Given the description of an element on the screen output the (x, y) to click on. 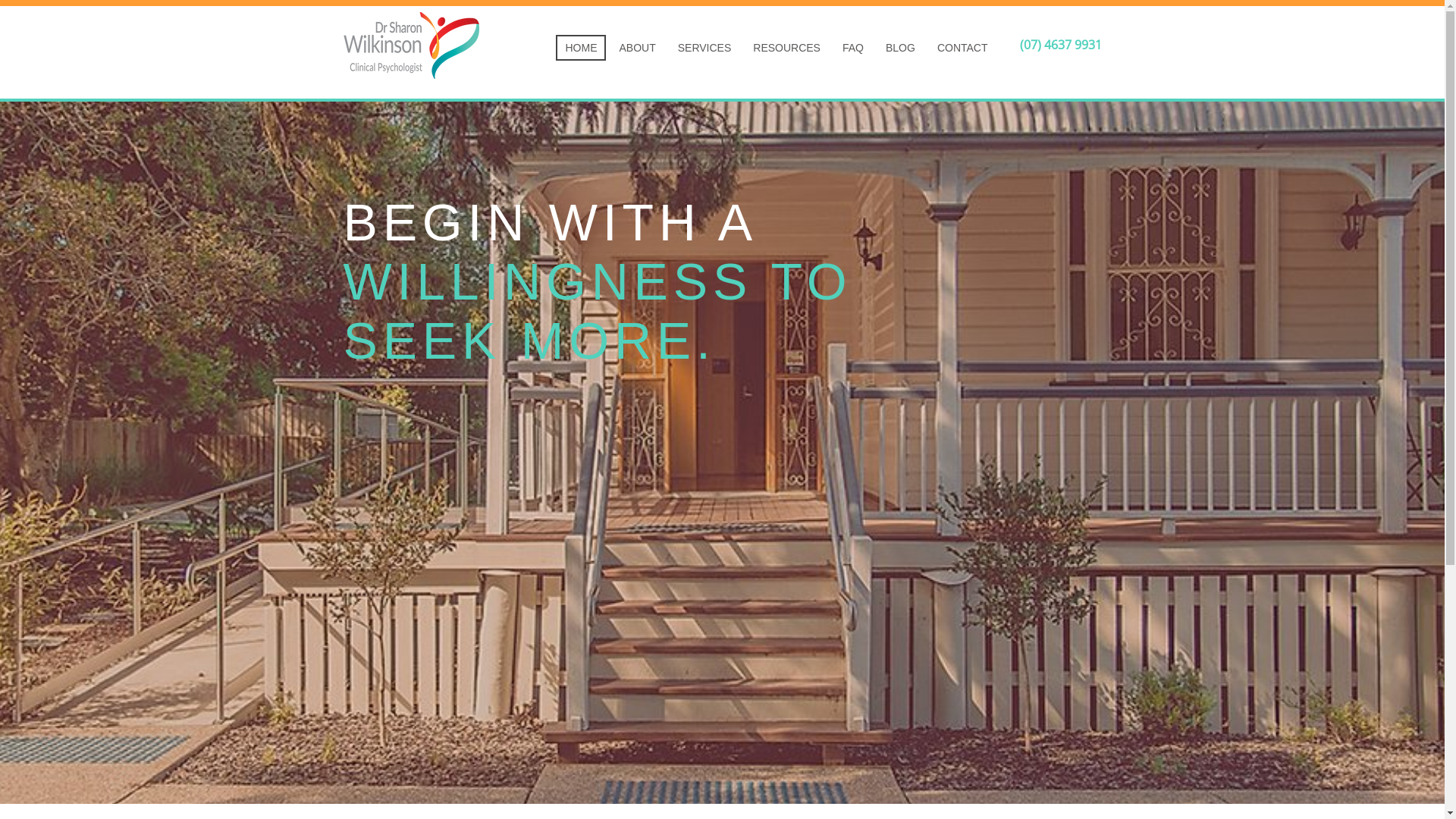
(07) 4637 9931 Element type: text (1060, 44)
HOME Element type: text (580, 47)
BLOG Element type: text (900, 47)
ABOUT Element type: text (636, 47)
SERVICES Element type: text (704, 47)
CONTACT Element type: text (962, 47)
RESOURCES Element type: text (786, 47)
FAQ Element type: text (852, 47)
